Given the description of an element on the screen output the (x, y) to click on. 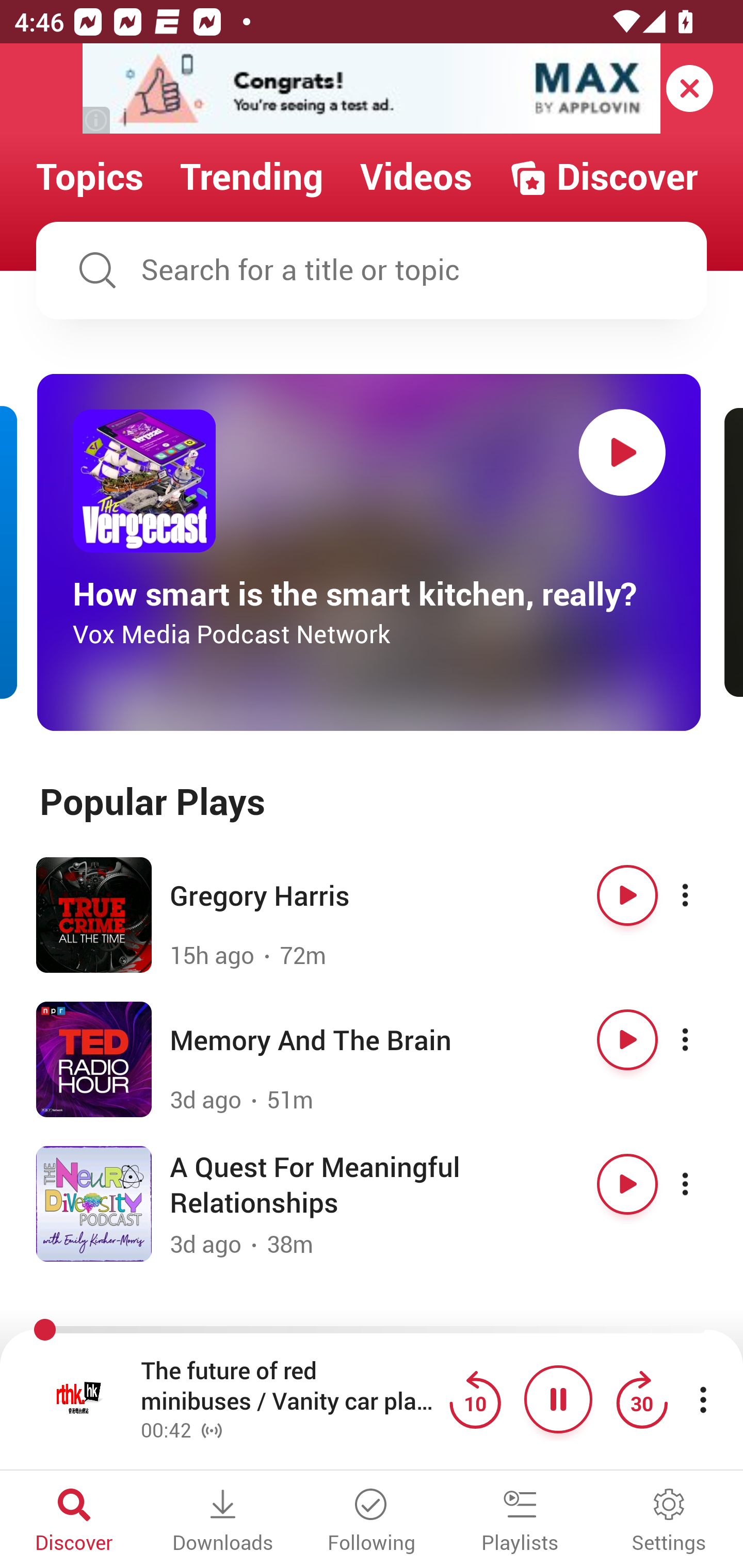
app-monetization (371, 88)
(i) (96, 119)
Topics (90, 177)
Trending (251, 177)
Videos (415, 177)
Discover (603, 177)
Search for a title or topic (371, 270)
Play button (621, 452)
Play button (627, 895)
More options (703, 895)
Play button (627, 1039)
More options (703, 1039)
Play button (627, 1184)
More options (703, 1184)
Recommended for You (371, 1331)
Open fullscreen player (79, 1399)
More player controls (703, 1399)
Pause button (558, 1398)
Jump back (475, 1399)
Jump forward (641, 1399)
Discover (74, 1521)
Downloads (222, 1521)
Following (371, 1521)
Playlists (519, 1521)
Settings (668, 1521)
